Given the description of an element on the screen output the (x, y) to click on. 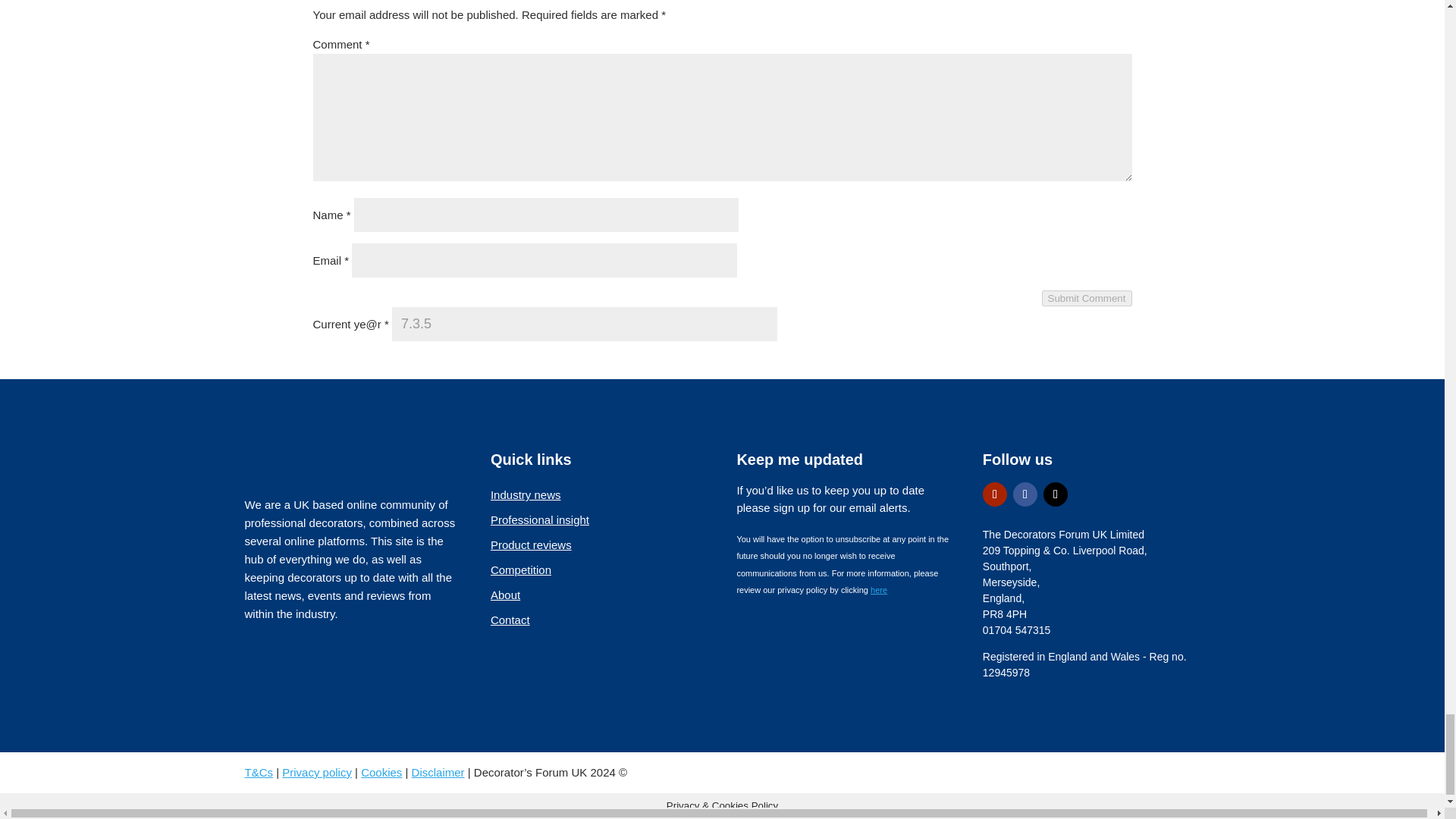
Follow on Facebook (1024, 494)
Follow on Twitter (1055, 494)
Follow on Youtube (994, 494)
7.3.5 (584, 324)
